Given the description of an element on the screen output the (x, y) to click on. 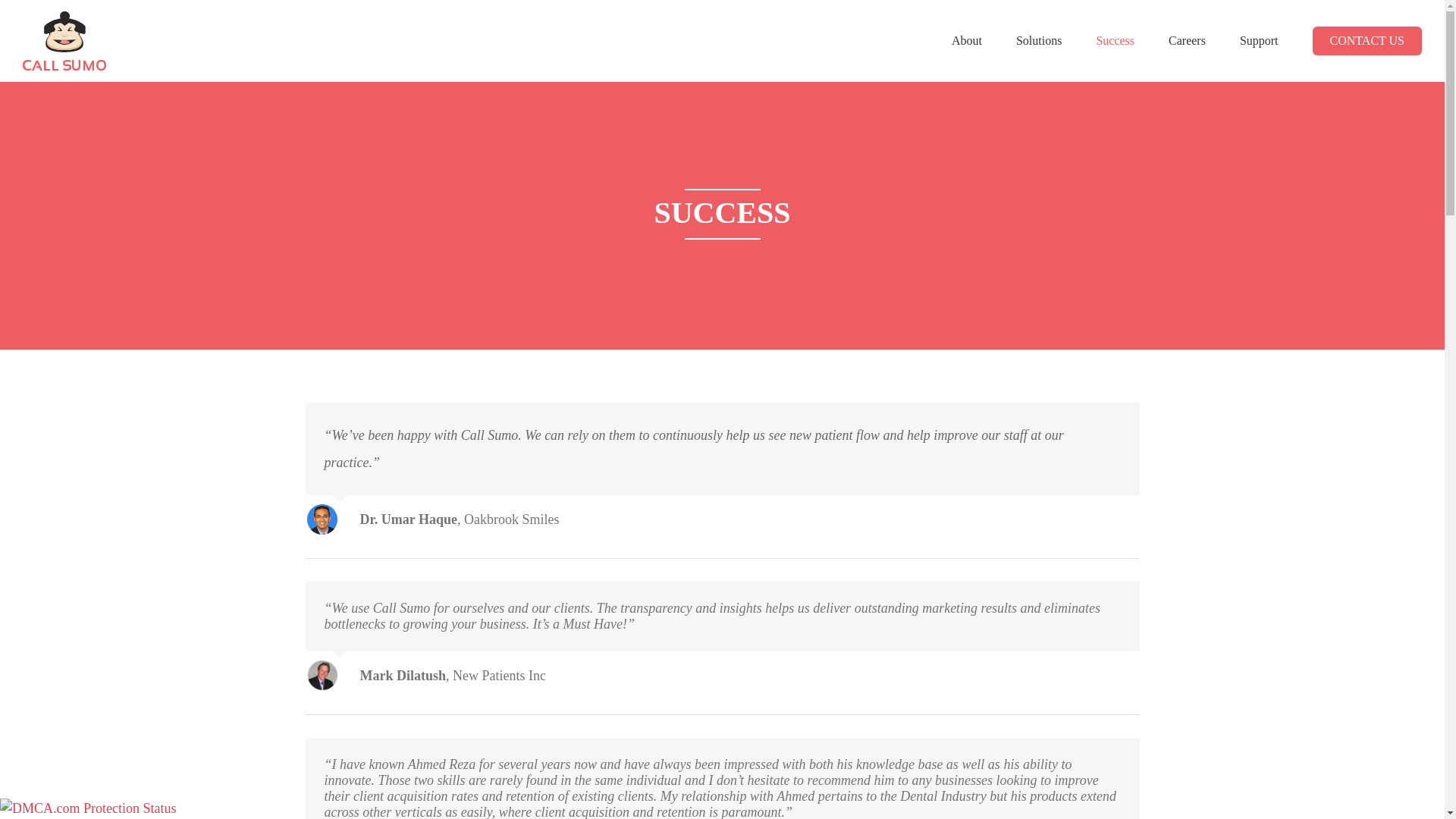
CONTACT US (1367, 40)
